Given the description of an element on the screen output the (x, y) to click on. 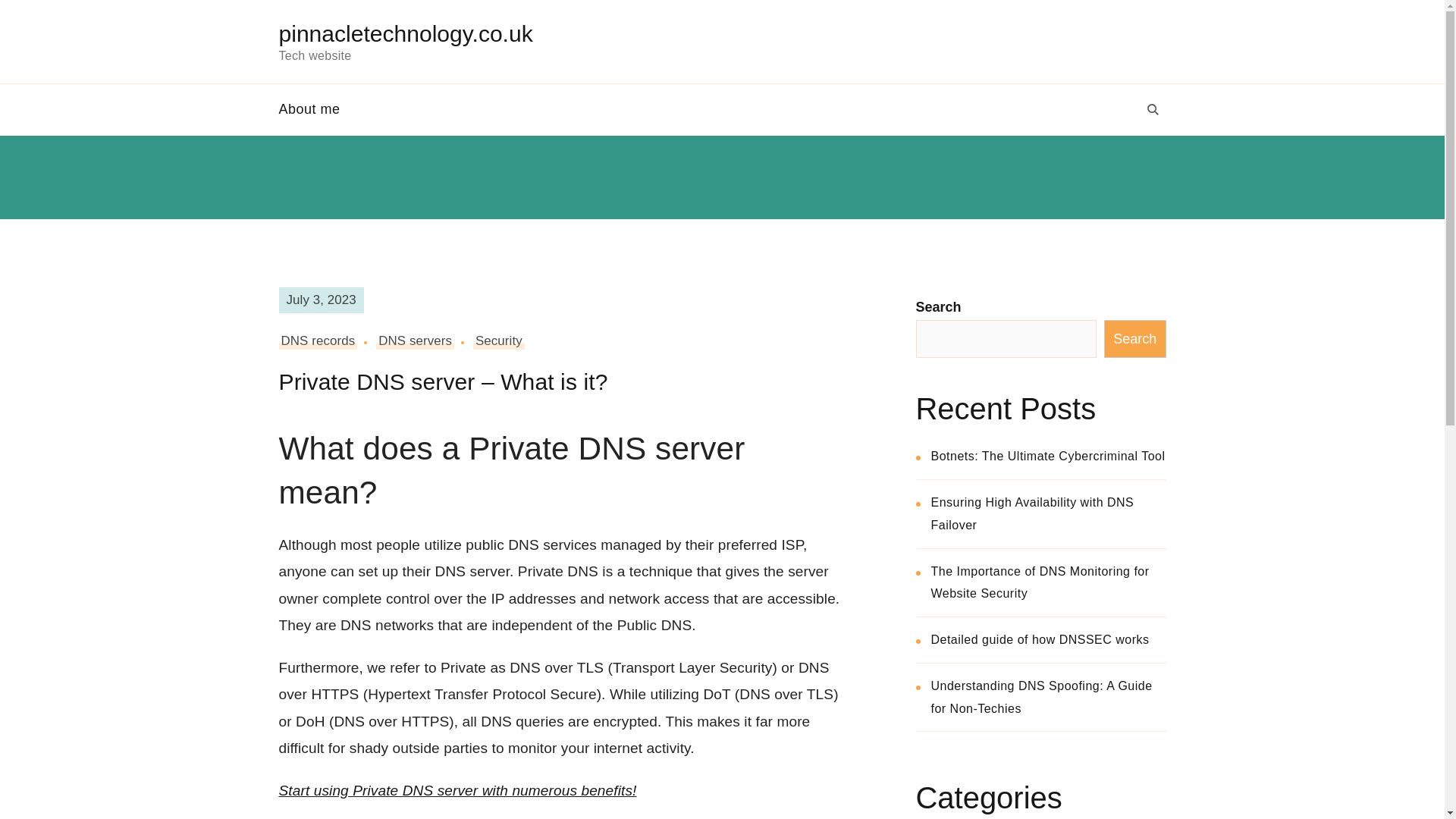
Search (1134, 338)
Botnets: The Ultimate Cybercriminal Tool (1048, 455)
Start using Private DNS server with numerous benefits! (458, 790)
DNS servers (414, 340)
pinnacletechnology.co.uk (405, 33)
Understanding DNS Spoofing: A Guide for Non-Techies (1042, 696)
The Importance of DNS Monitoring for Website Security (1040, 582)
Ensuring High Availability with DNS Failover (1032, 513)
About me (320, 109)
Detailed guide of how DNSSEC works (1040, 639)
July 3, 2023 (321, 300)
Security (498, 340)
DNS records (318, 340)
